Given the description of an element on the screen output the (x, y) to click on. 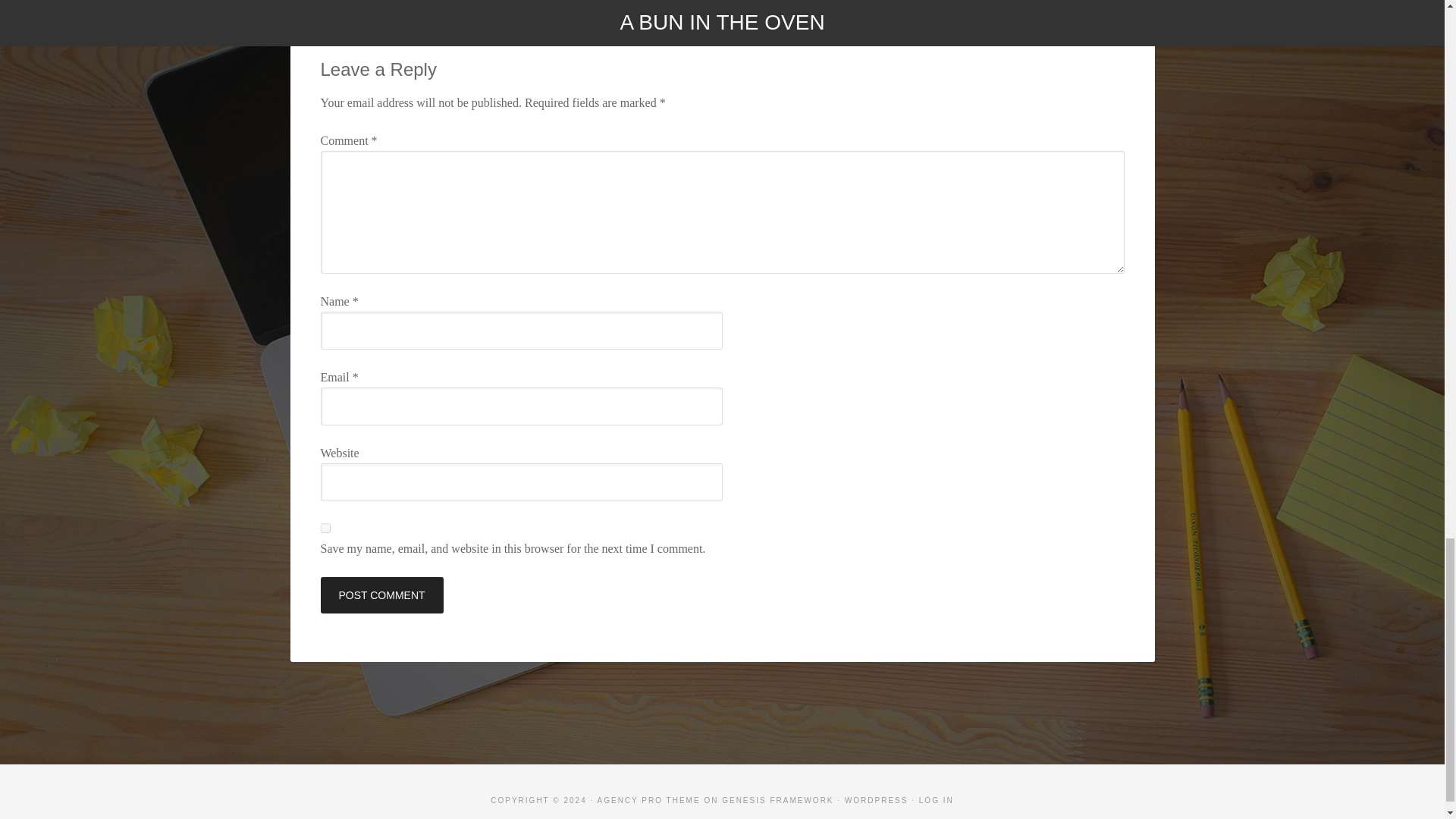
WORDPRESS (876, 800)
Post Comment (381, 595)
yes (325, 528)
AGENCY PRO THEME (648, 800)
Post Comment (381, 595)
GENESIS FRAMEWORK (777, 800)
LOG IN (935, 800)
